Given the description of an element on the screen output the (x, y) to click on. 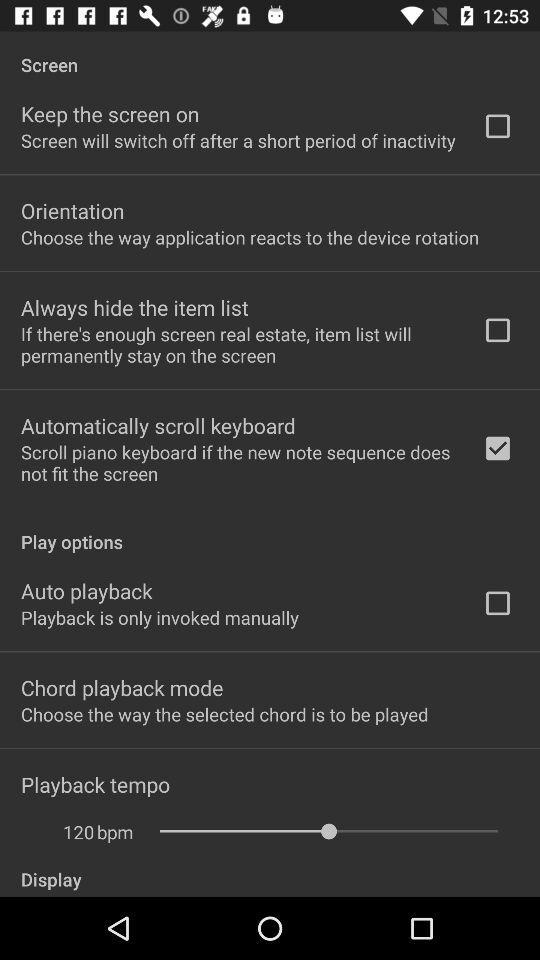
choose icon next to the bpm app (68, 831)
